Given the description of an element on the screen output the (x, y) to click on. 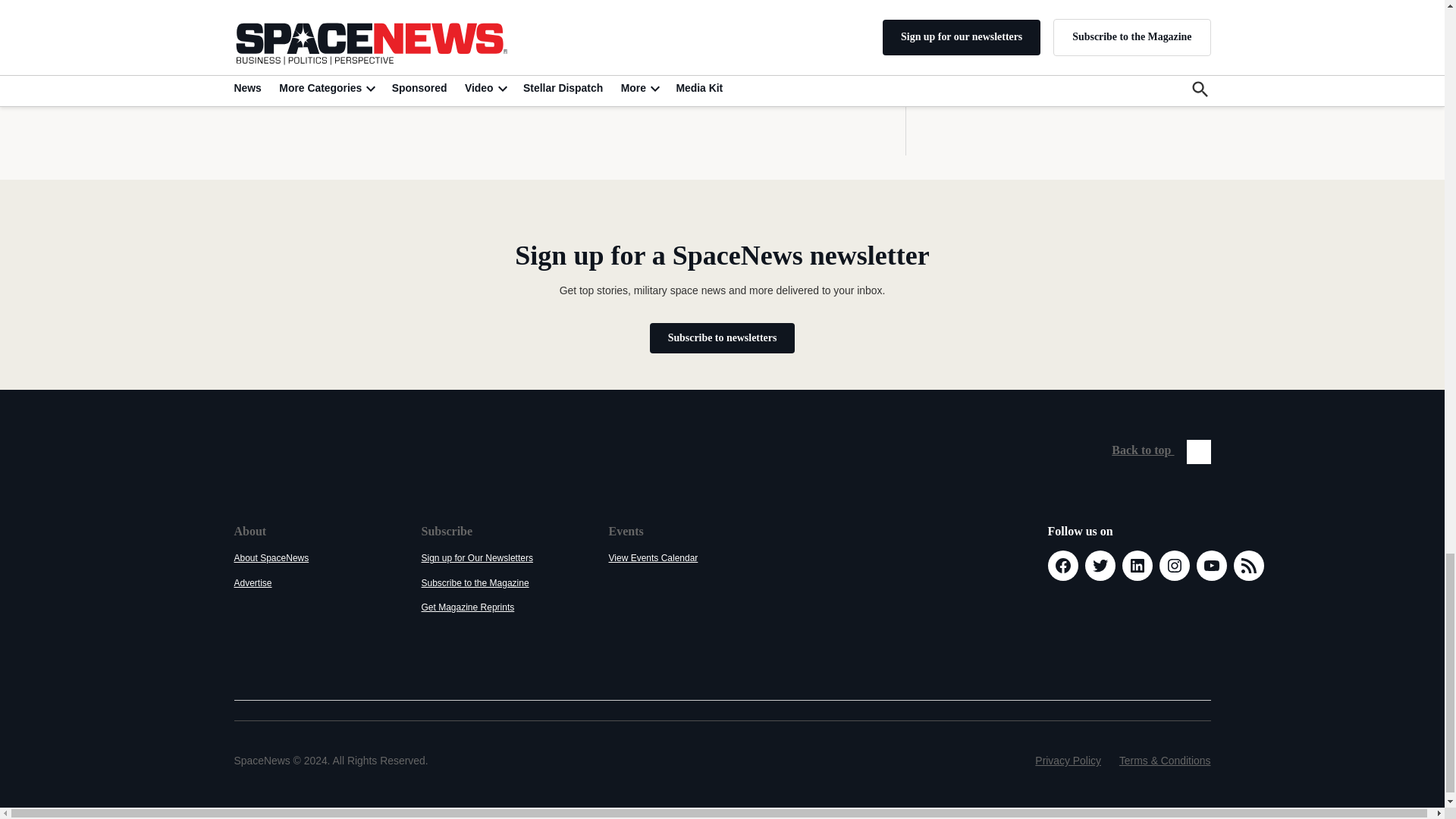
Click to share on LinkedIn (319, 11)
Click to email a link to a friend (386, 11)
Click to share on Reddit (352, 11)
Click to share on Clipboard (419, 11)
Click to share on Facebook (286, 11)
Click to share on X (253, 11)
